Given the description of an element on the screen output the (x, y) to click on. 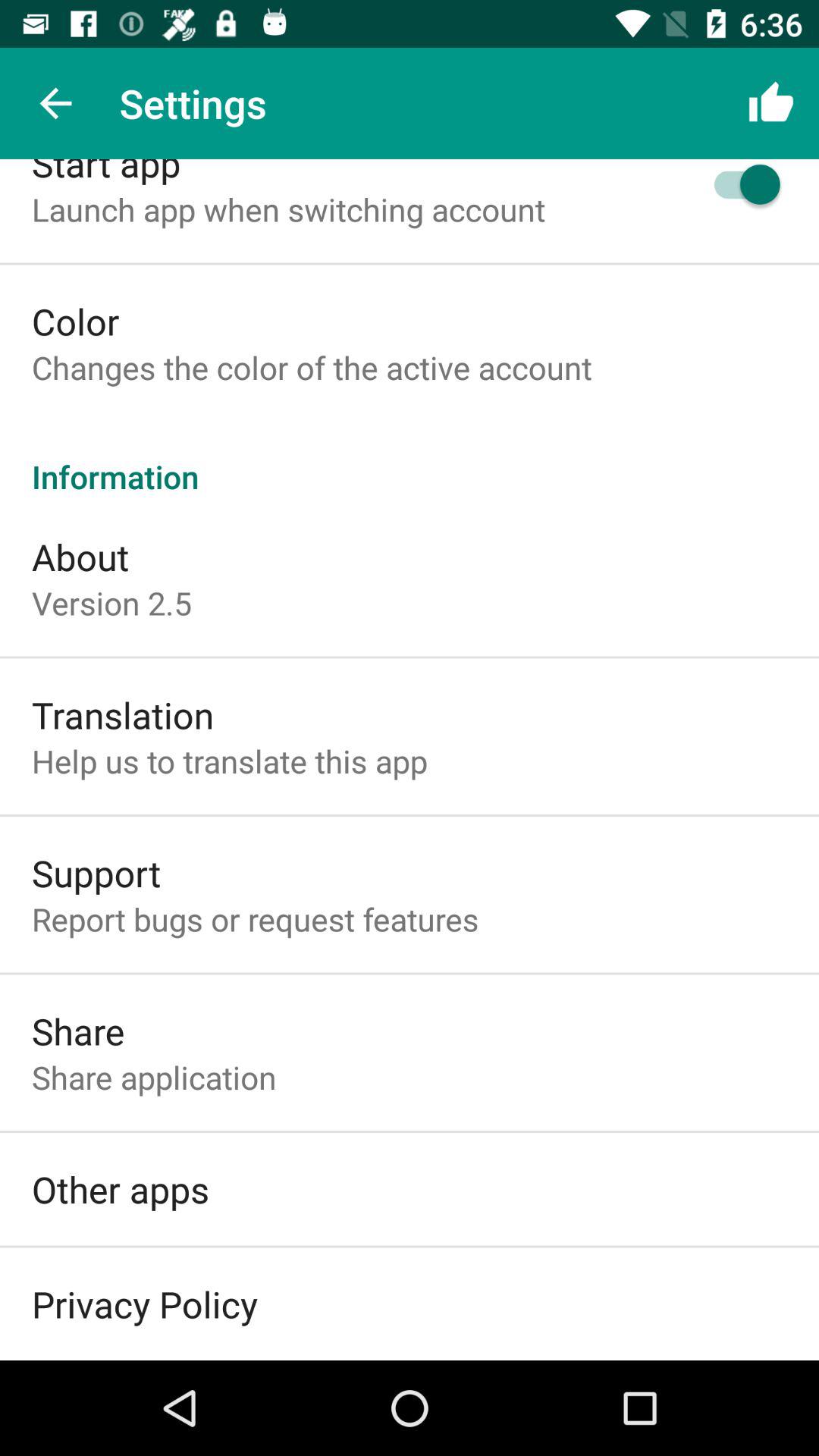
turn on the icon below the share (153, 1076)
